Given the description of an element on the screen output the (x, y) to click on. 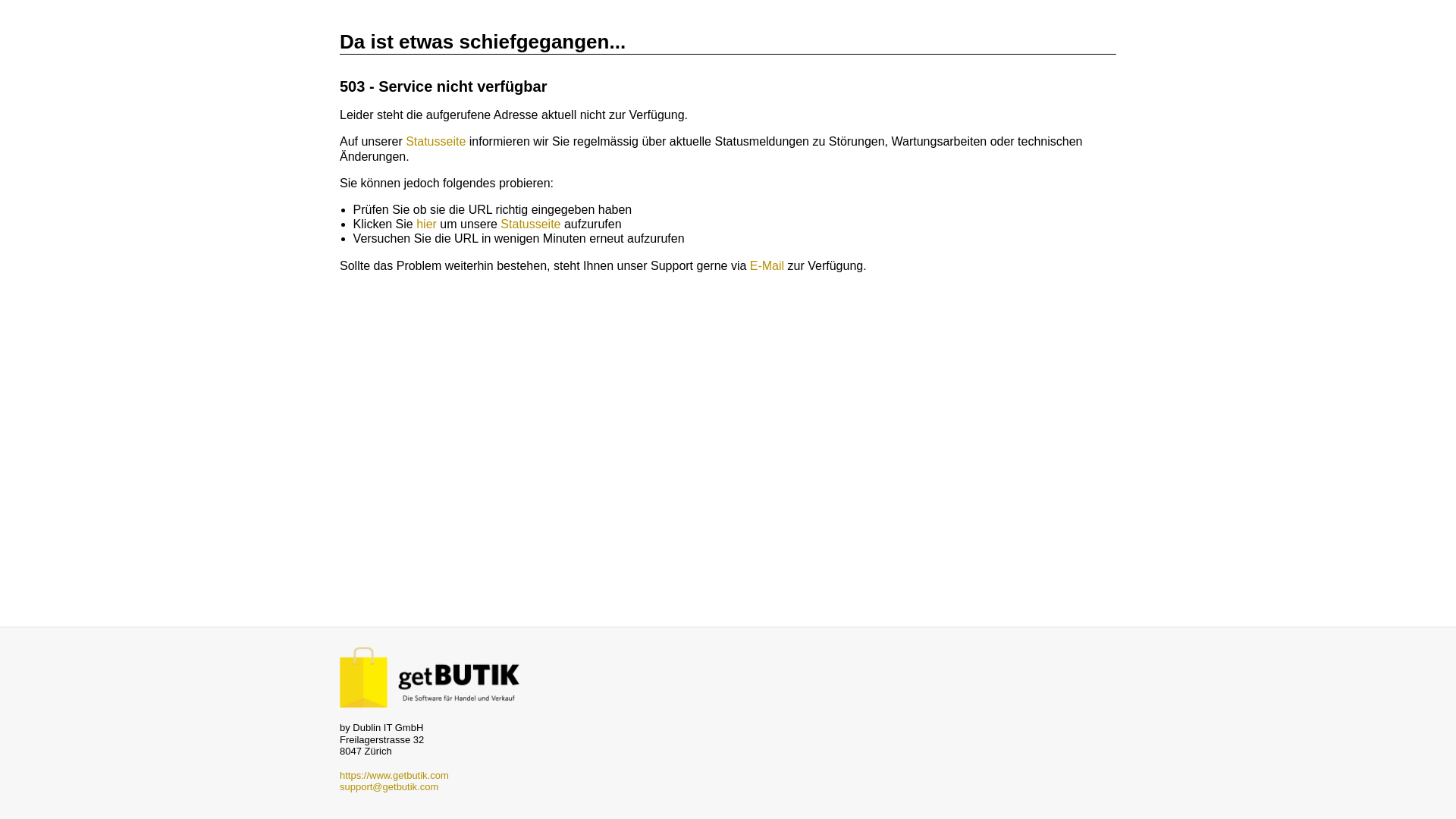
Statusseite Element type: text (435, 140)
https://www.getbutik.com Element type: text (393, 775)
support@getbutik.com Element type: text (388, 786)
Statusseite Element type: text (530, 223)
E-Mail Element type: text (766, 265)
hier Element type: text (426, 223)
